Given the description of an element on the screen output the (x, y) to click on. 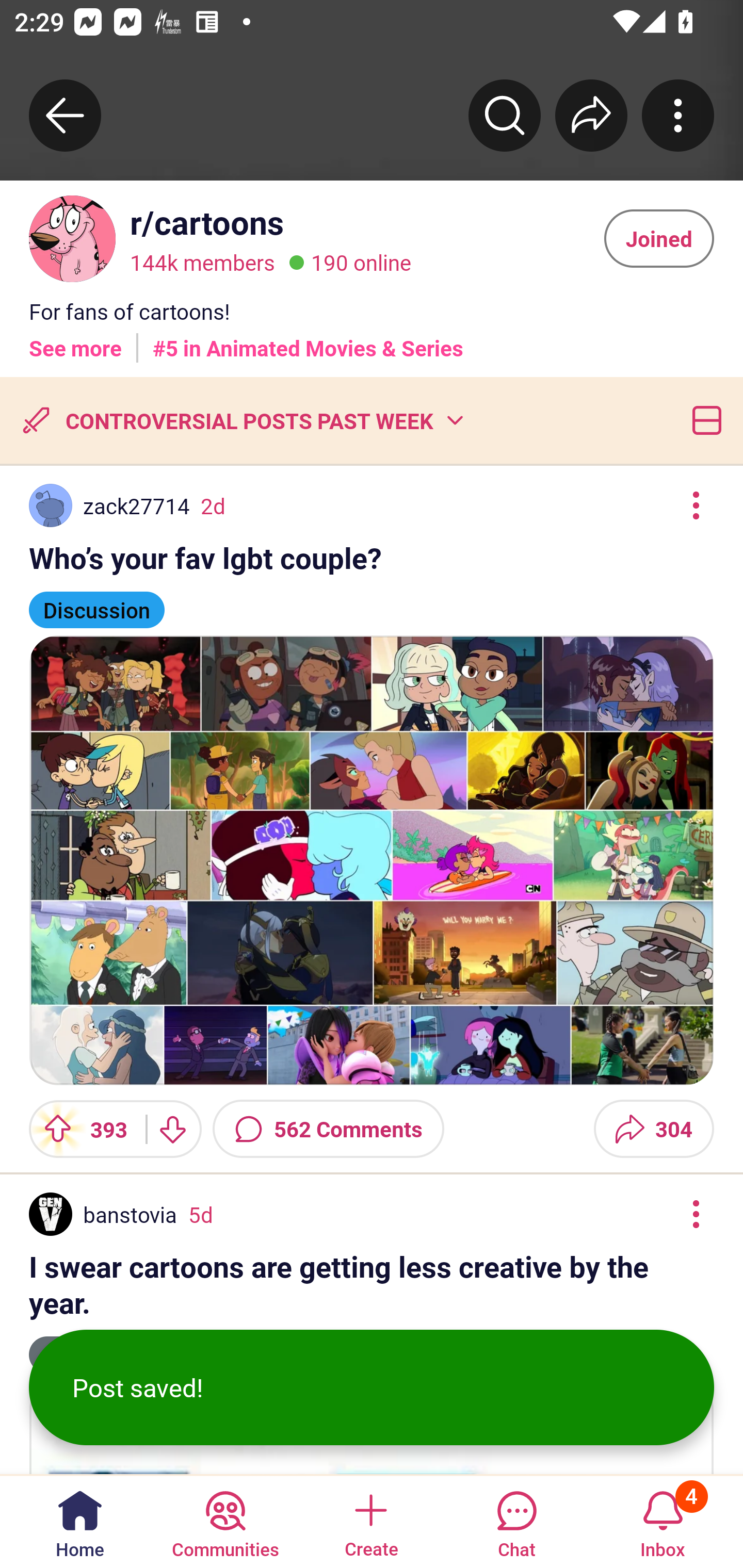
Back (64, 115)
Search r/﻿cartoons (504, 115)
Share r/﻿cartoons (591, 115)
More community actions (677, 115)
Controversial posts CONTROVERSIAL POSTS PAST WEEK (241, 420)
Card (703, 420)
Discussion (96, 601)
Home (80, 1520)
Communities (225, 1520)
Create a post Create (370, 1520)
Chat (516, 1520)
Inbox, has 4 notifications 4 Inbox (662, 1520)
